Given the description of an element on the screen output the (x, y) to click on. 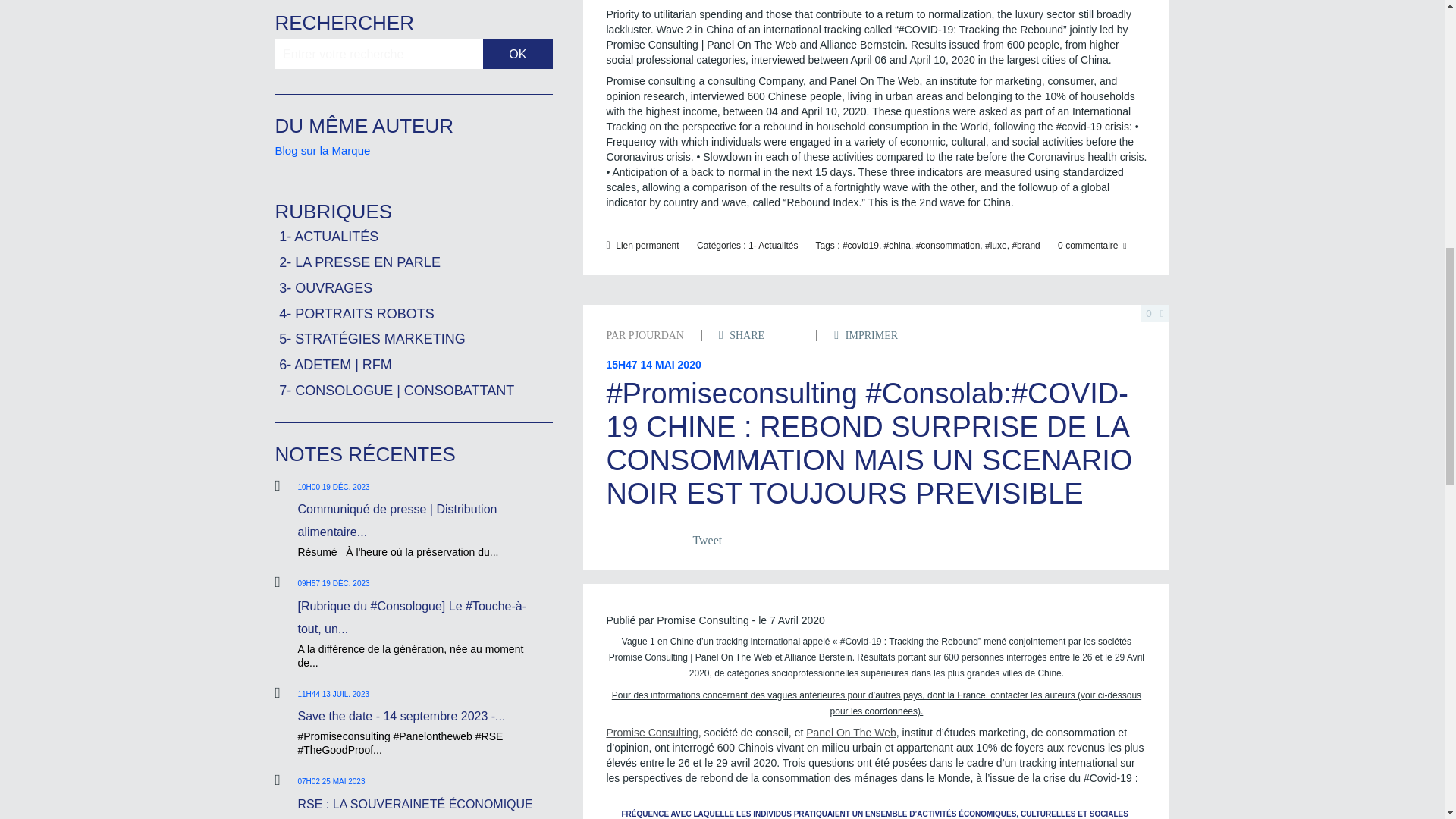
OK (518, 53)
OK (518, 53)
2- LA PRESSE EN PARLE (360, 262)
Save the date - 14 septembre 2023 -... (401, 716)
3- OUVRAGES (325, 287)
Blog sur la Marque (322, 150)
4- PORTRAITS ROBOTS (356, 313)
